Given the description of an element on the screen output the (x, y) to click on. 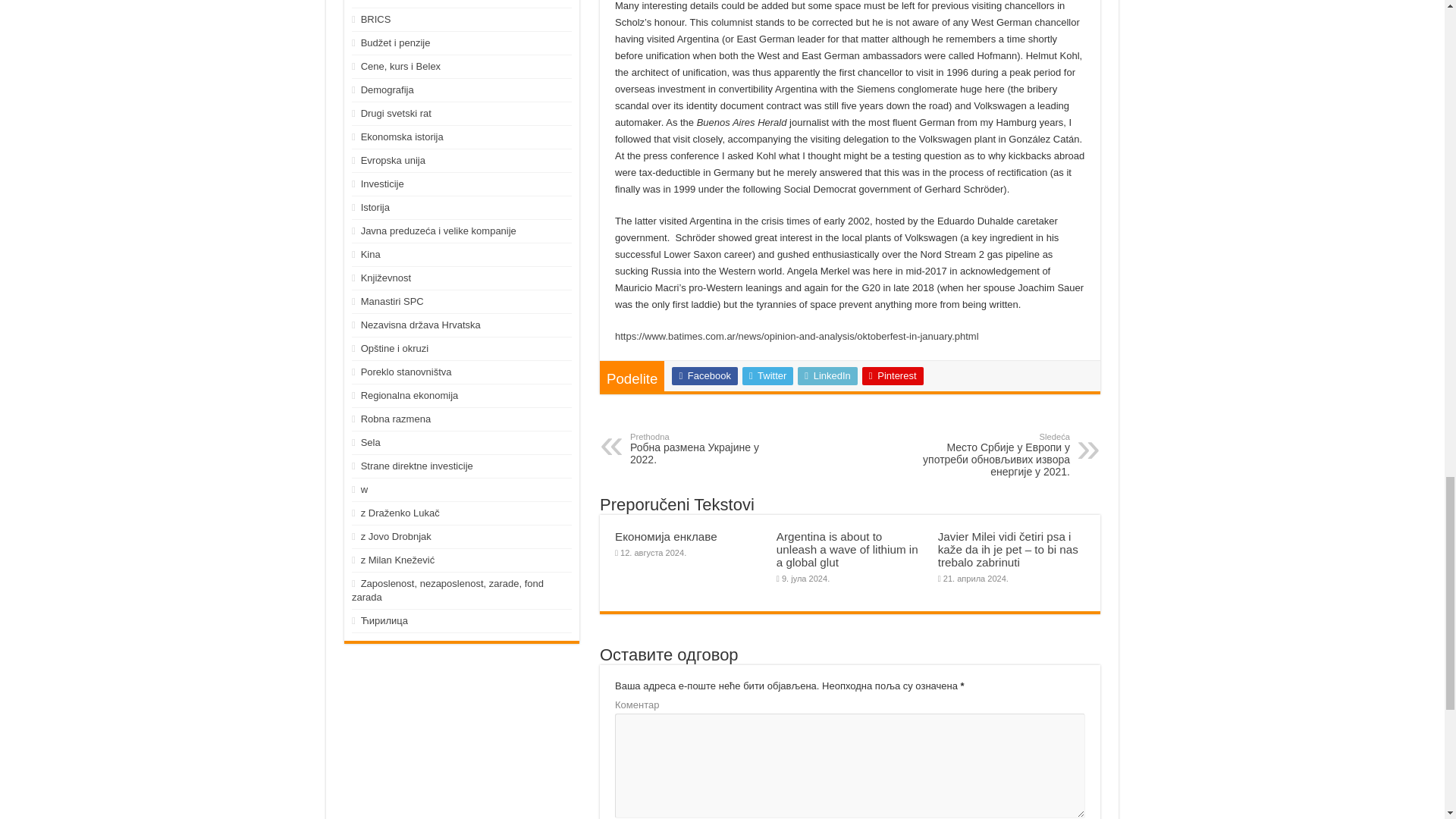
LinkedIn (827, 375)
Twitter (767, 375)
Facebook (703, 375)
Pinterest (892, 375)
